Given the description of an element on the screen output the (x, y) to click on. 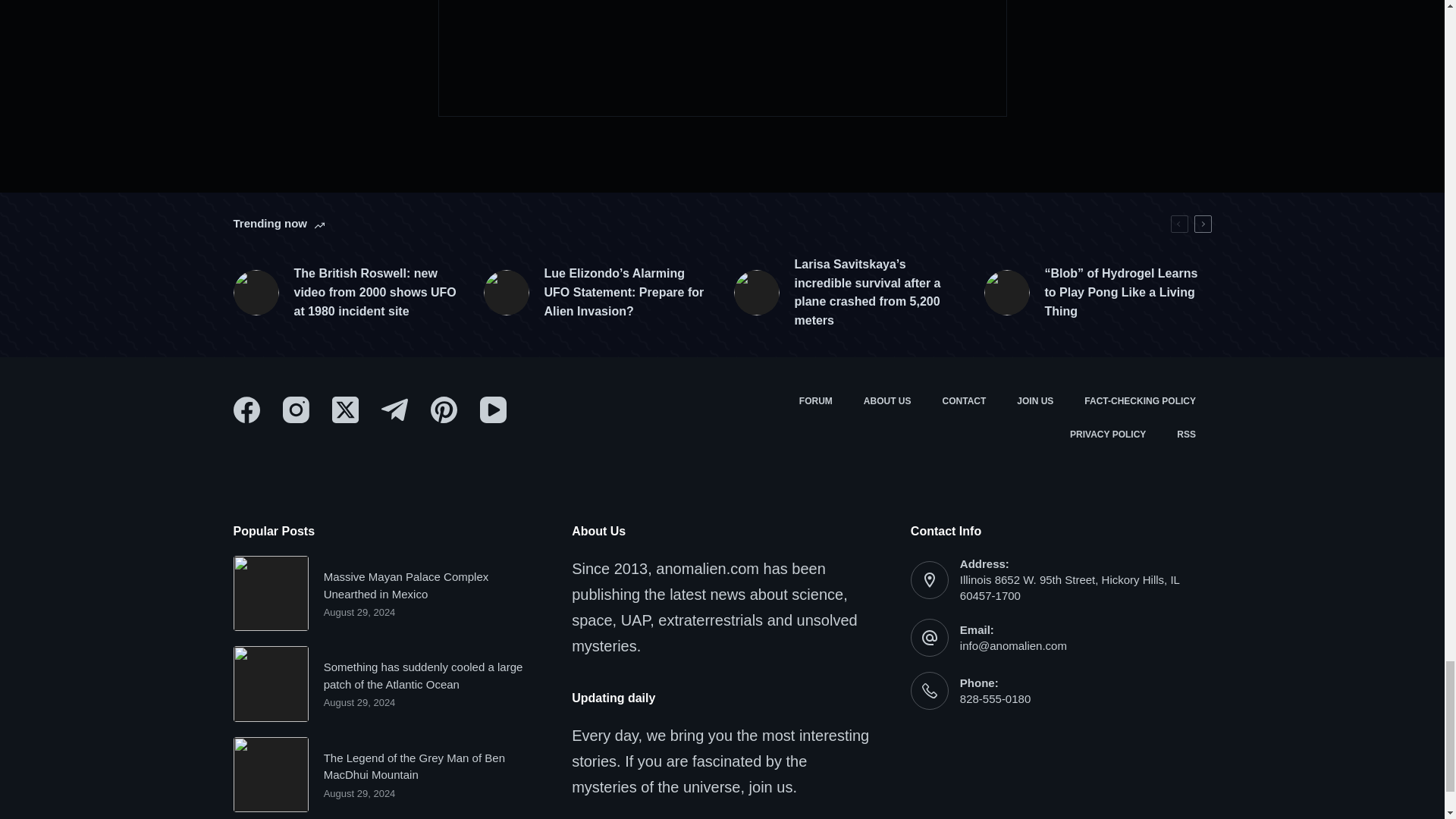
Comments (722, 58)
Discussion Forum (815, 401)
Contact us (964, 401)
